Given the description of an element on the screen output the (x, y) to click on. 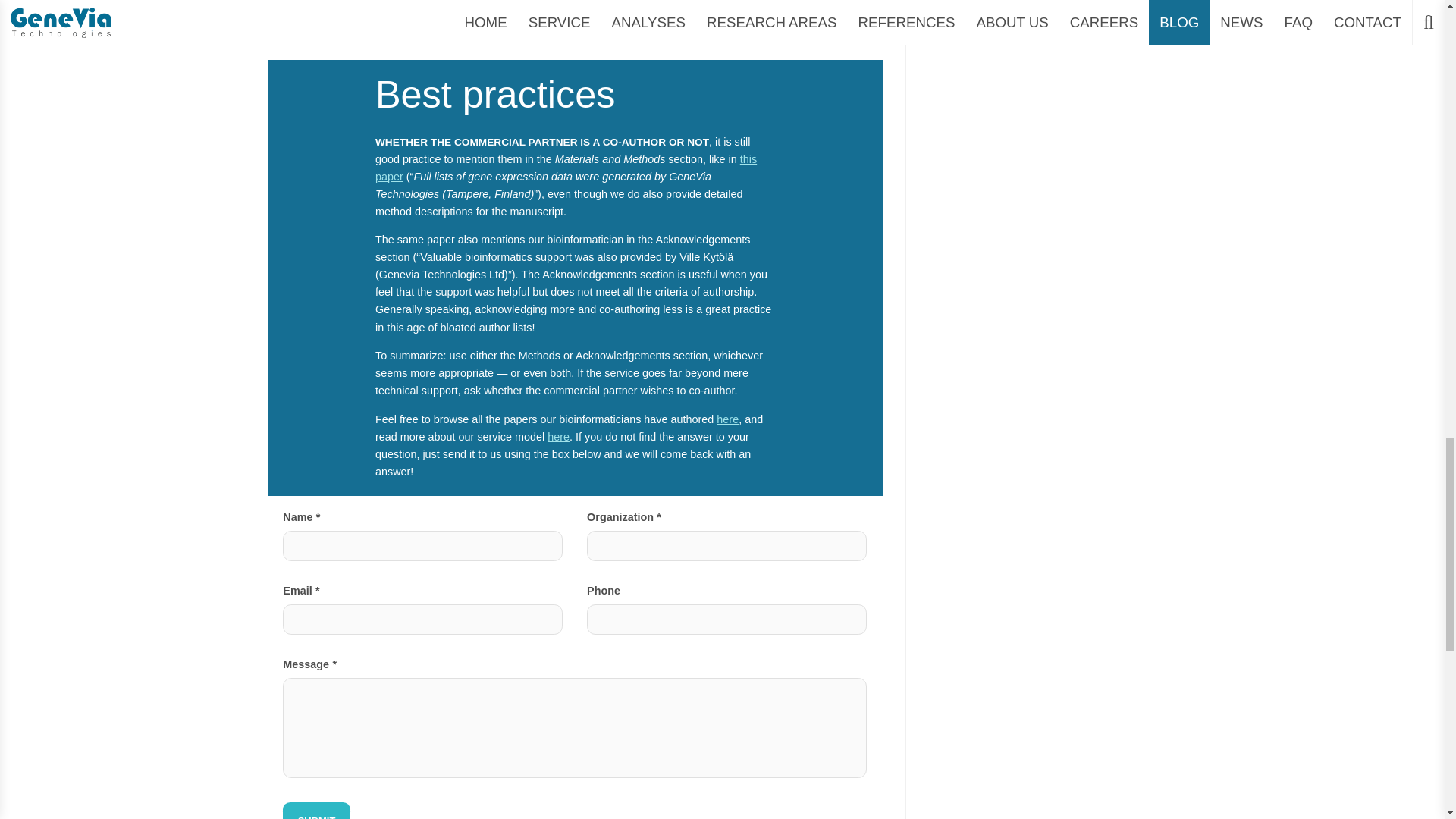
here (625, 34)
here (671, 34)
SUBMIT (316, 810)
here (727, 418)
here (558, 436)
this paper (566, 167)
